Given the description of an element on the screen output the (x, y) to click on. 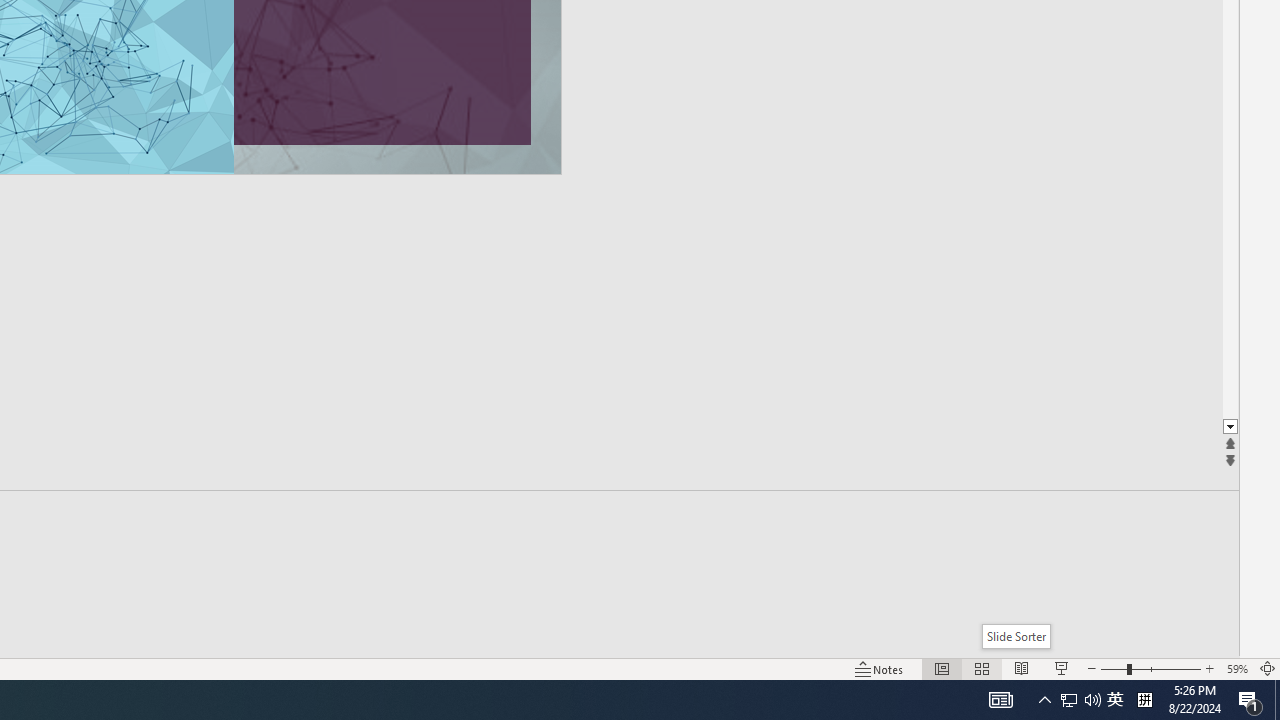
Zoom 59% (1236, 668)
